Given the description of an element on the screen output the (x, y) to click on. 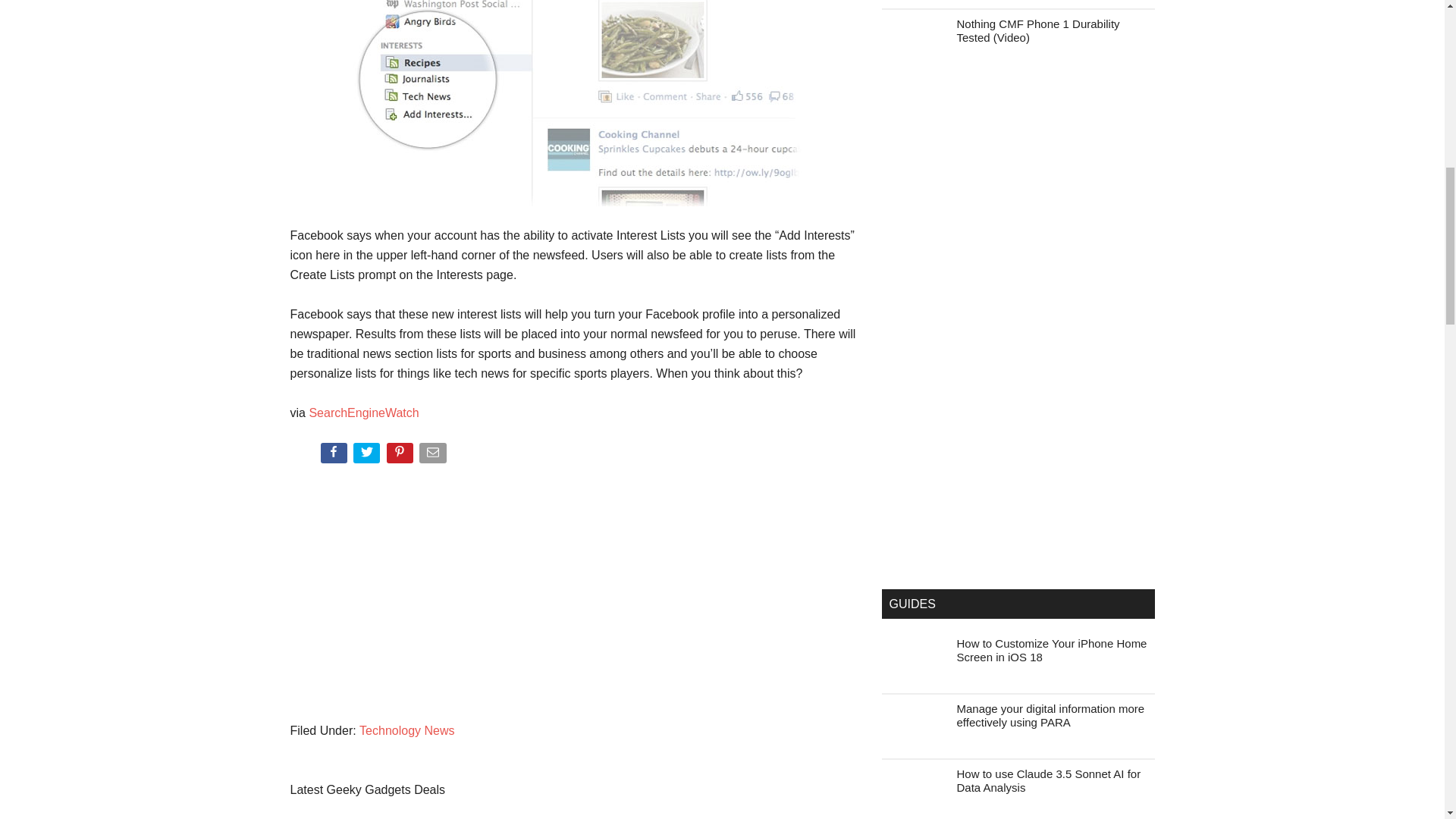
Tweet (367, 456)
Email (433, 456)
interest-lists (574, 103)
Pin (401, 456)
SearchEngineWatch (363, 412)
Share on Facebook (334, 456)
Technology News (406, 730)
